Given the description of an element on the screen output the (x, y) to click on. 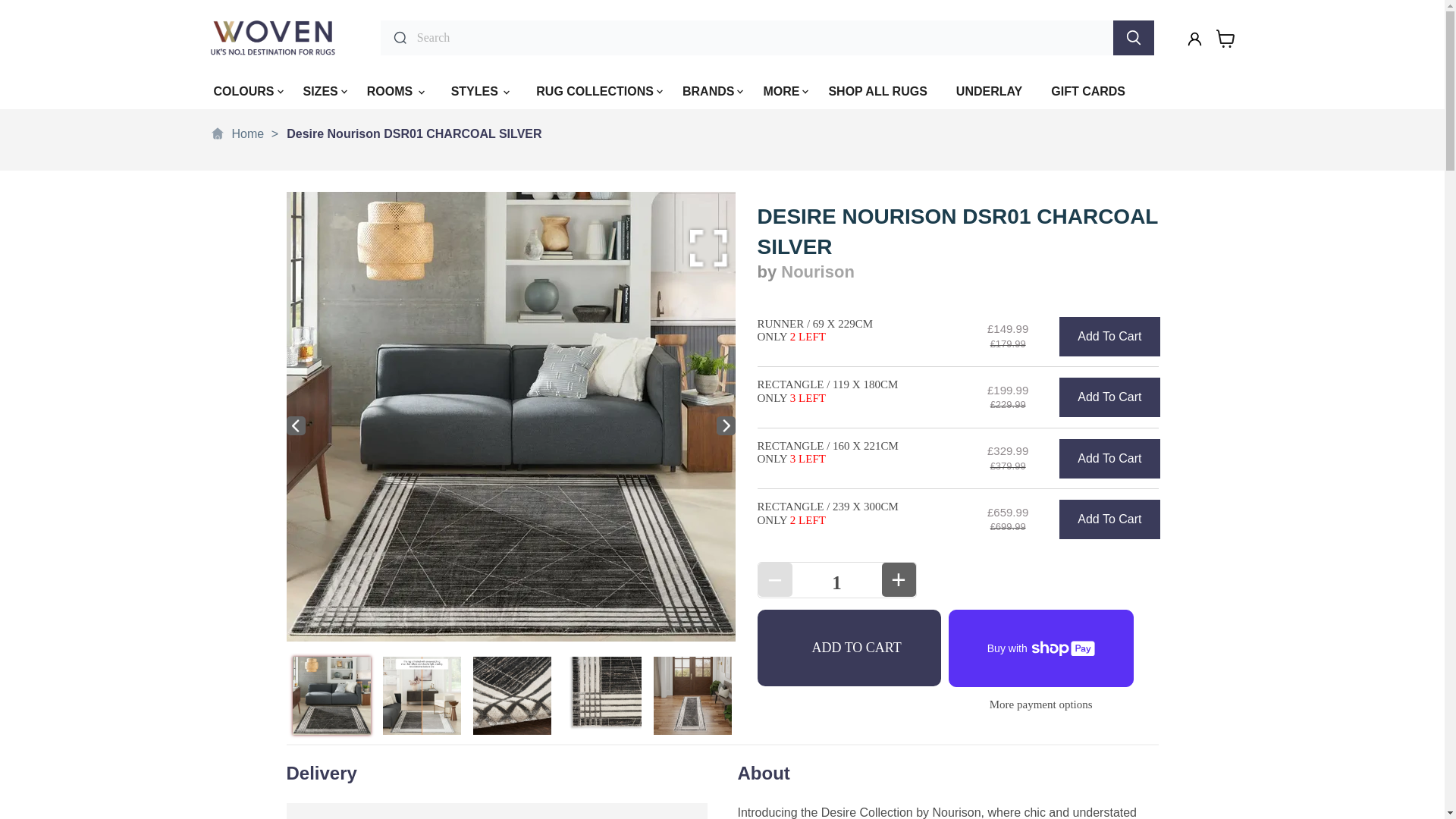
SIZES (319, 92)
Nourison (817, 271)
1 (836, 582)
COLOURS (244, 92)
View cart (1224, 38)
